Given the description of an element on the screen output the (x, y) to click on. 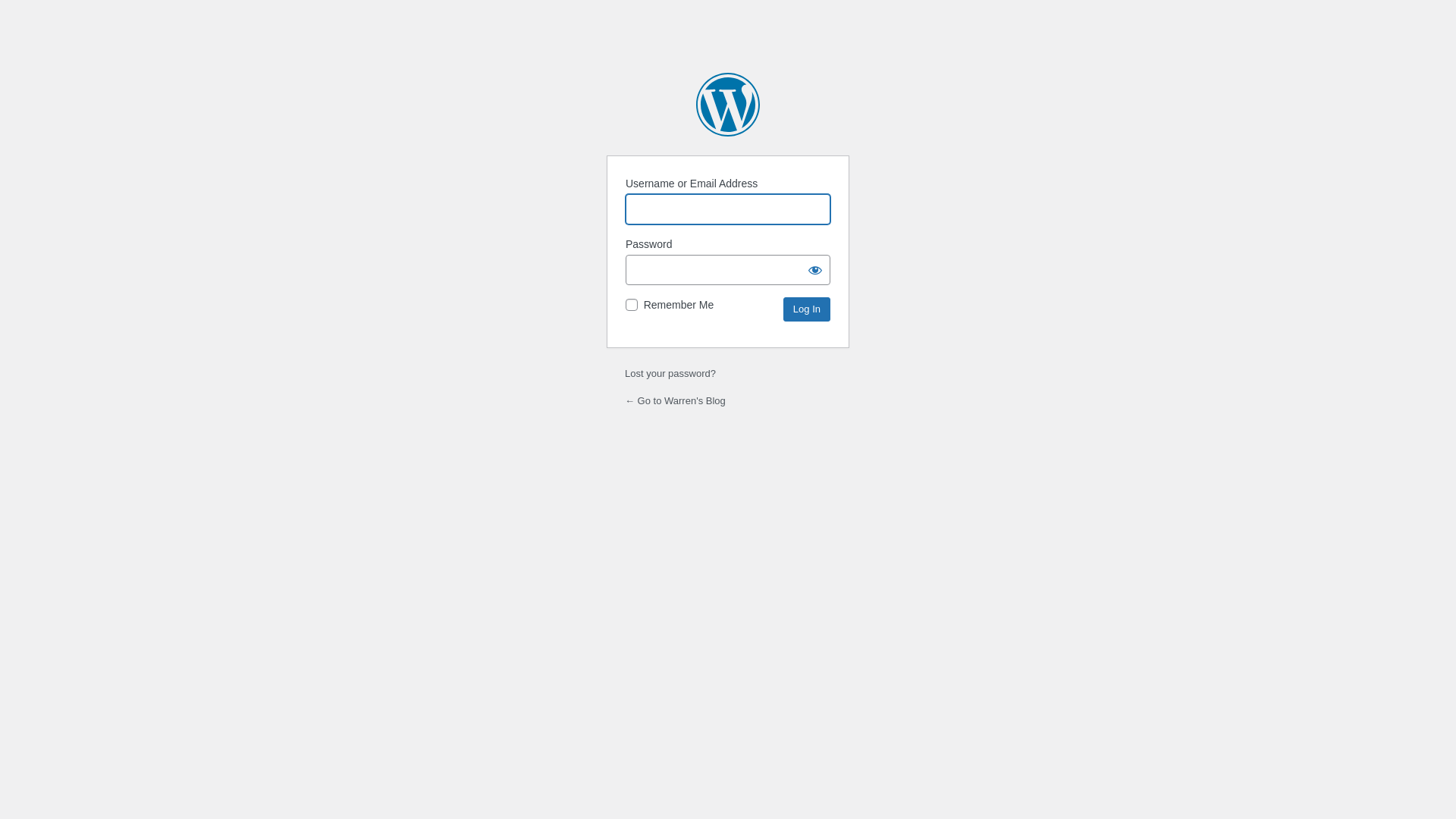
Lost your password? Element type: text (669, 373)
Powered by WordPress Element type: text (727, 104)
Log In Element type: text (806, 309)
